Given the description of an element on the screen output the (x, y) to click on. 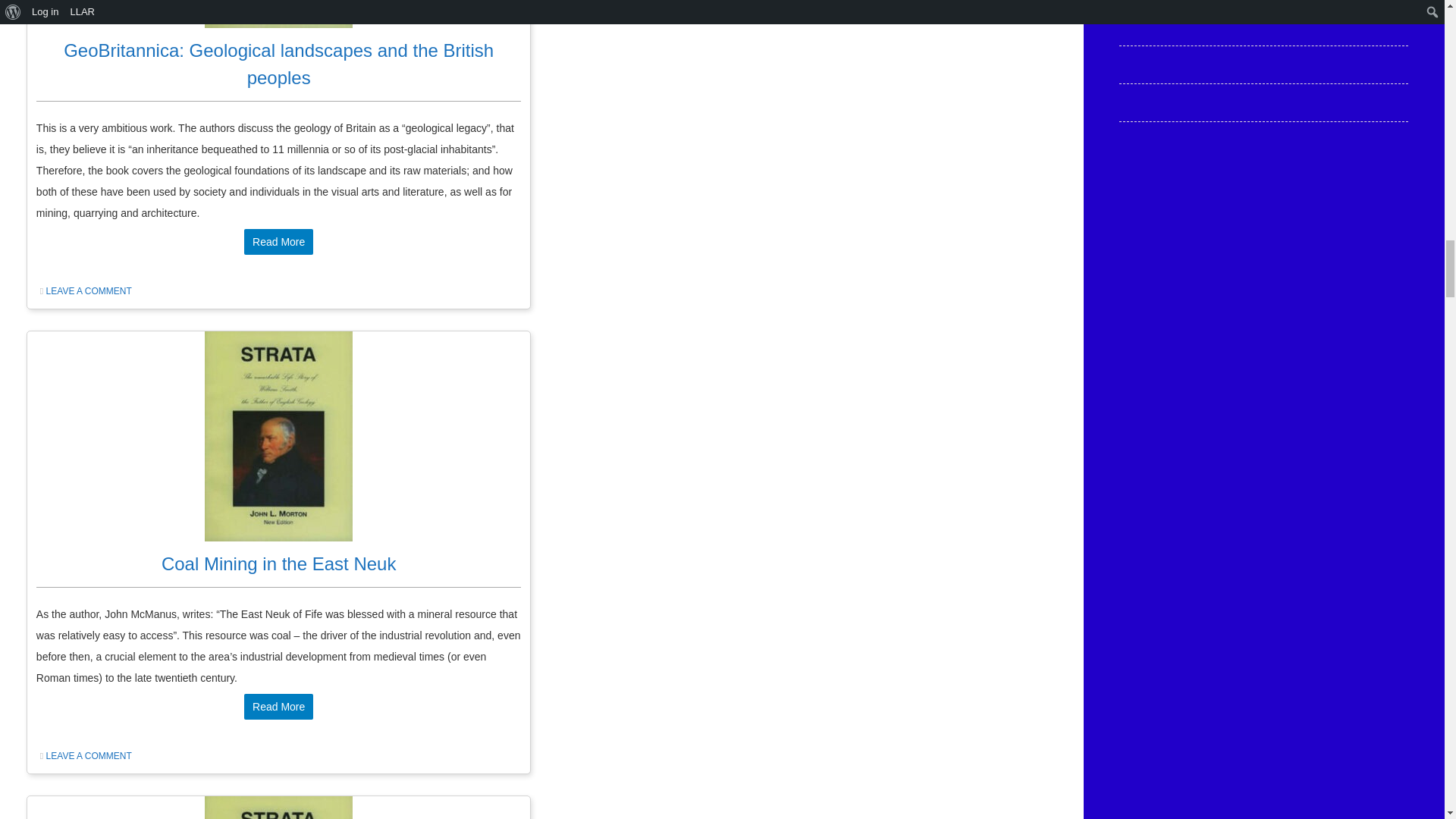
Permalink to Coal Mining in the East Neuk (278, 563)
